Given the description of an element on the screen output the (x, y) to click on. 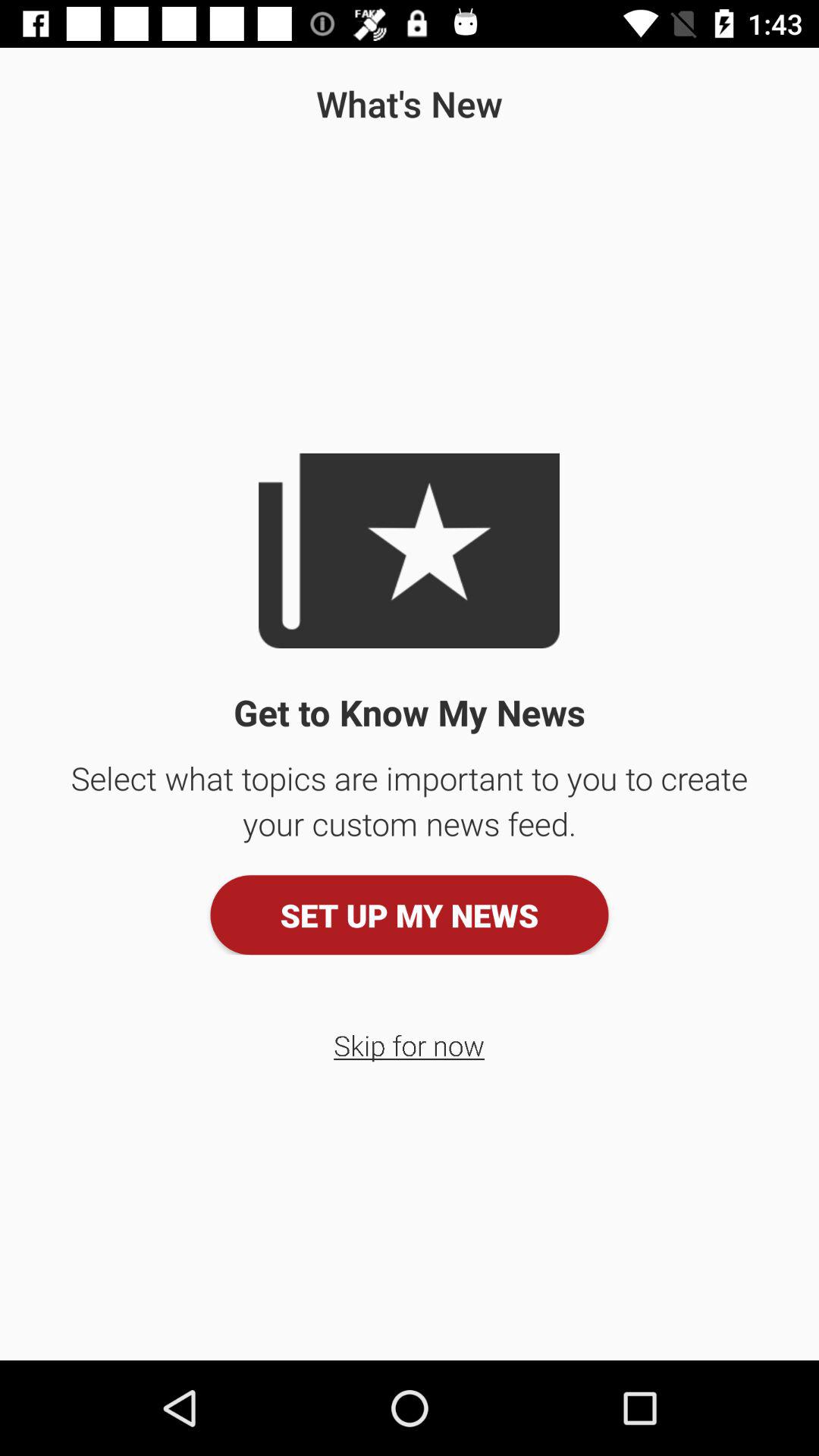
open skip for now item (409, 1044)
